Given the description of an element on the screen output the (x, y) to click on. 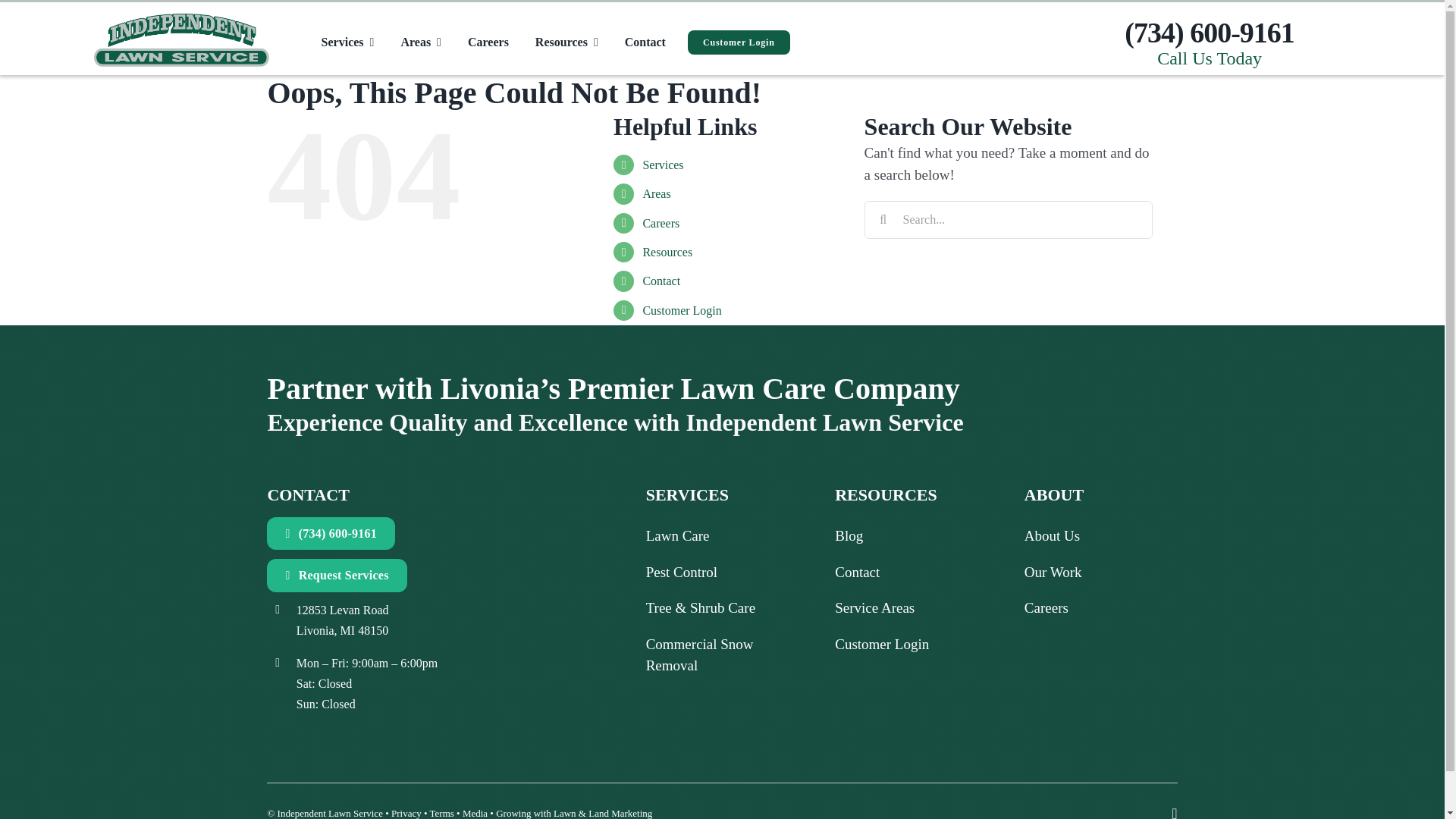
Careers (488, 41)
Services (347, 41)
Resources (566, 41)
Areas (420, 41)
